Given the description of an element on the screen output the (x, y) to click on. 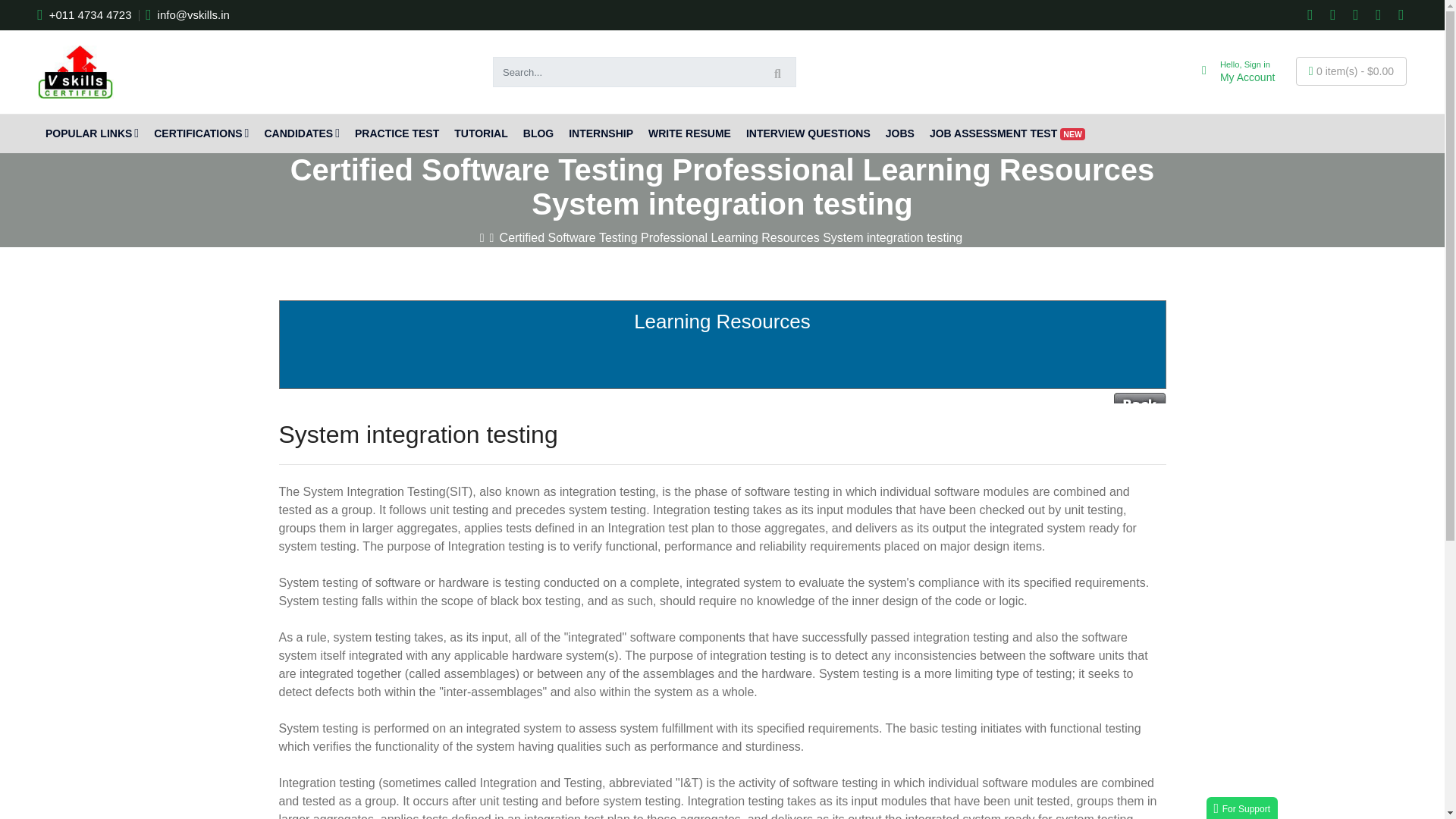
CERTIFICATIONS (1230, 71)
POPULAR LINKS (201, 133)
